Given the description of an element on the screen output the (x, y) to click on. 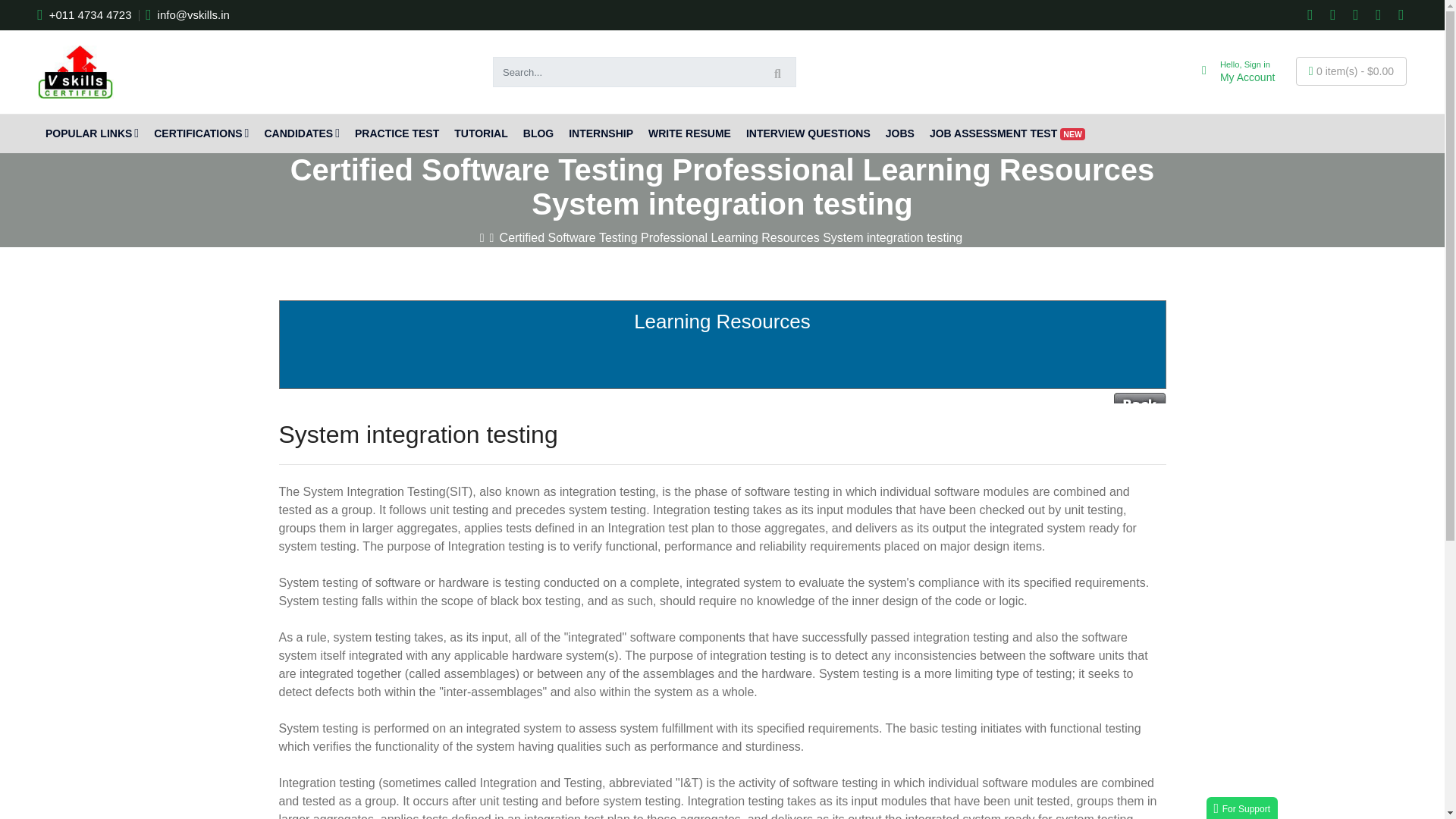
CERTIFICATIONS (1230, 71)
POPULAR LINKS (201, 133)
